Given the description of an element on the screen output the (x, y) to click on. 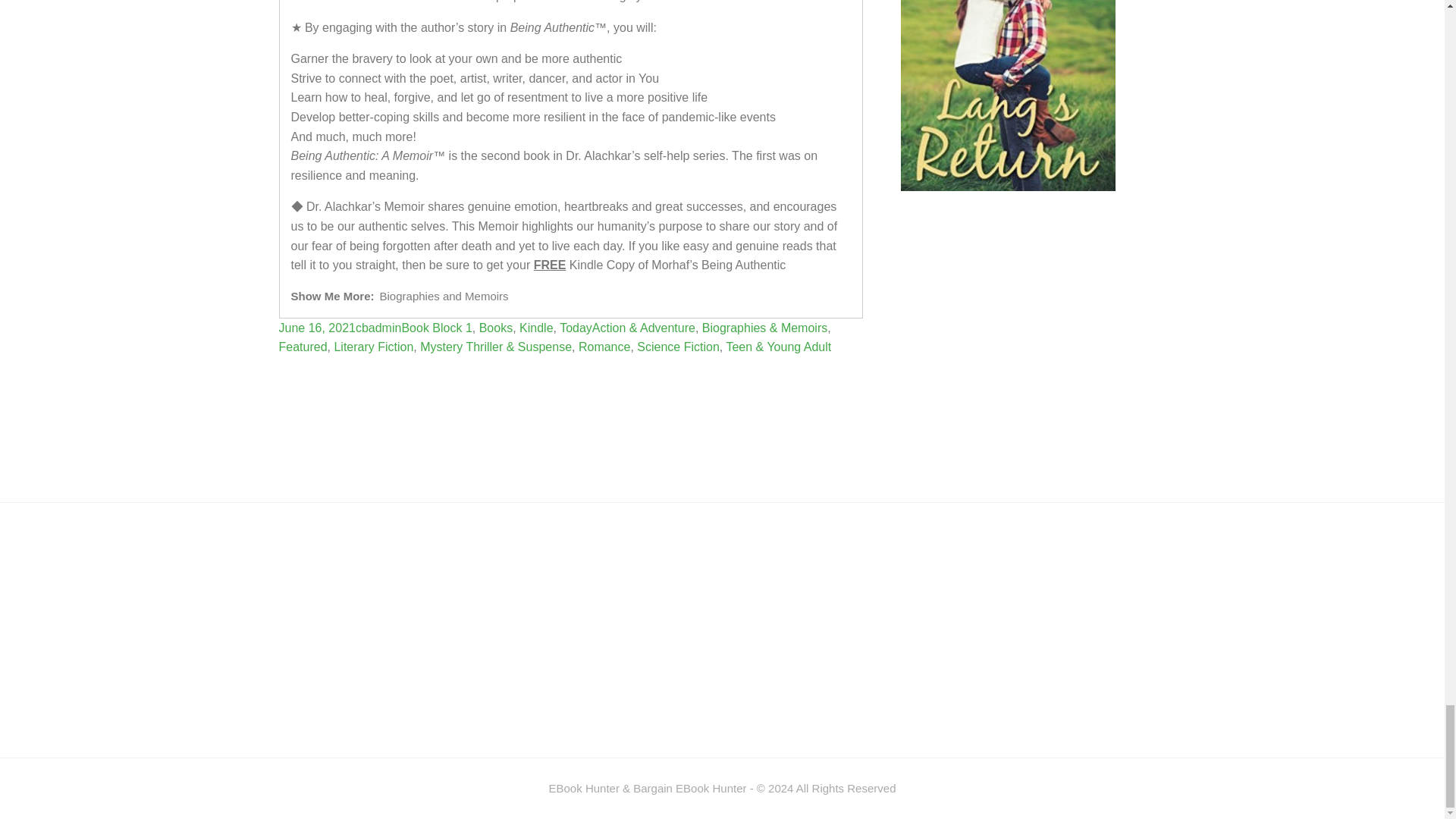
Kindle (536, 327)
Today (575, 327)
Biographies and Memoirs (444, 295)
Books (495, 327)
June 16, 2021 (317, 327)
Book Block 1 (436, 327)
cbadmin (378, 327)
